Given the description of an element on the screen output the (x, y) to click on. 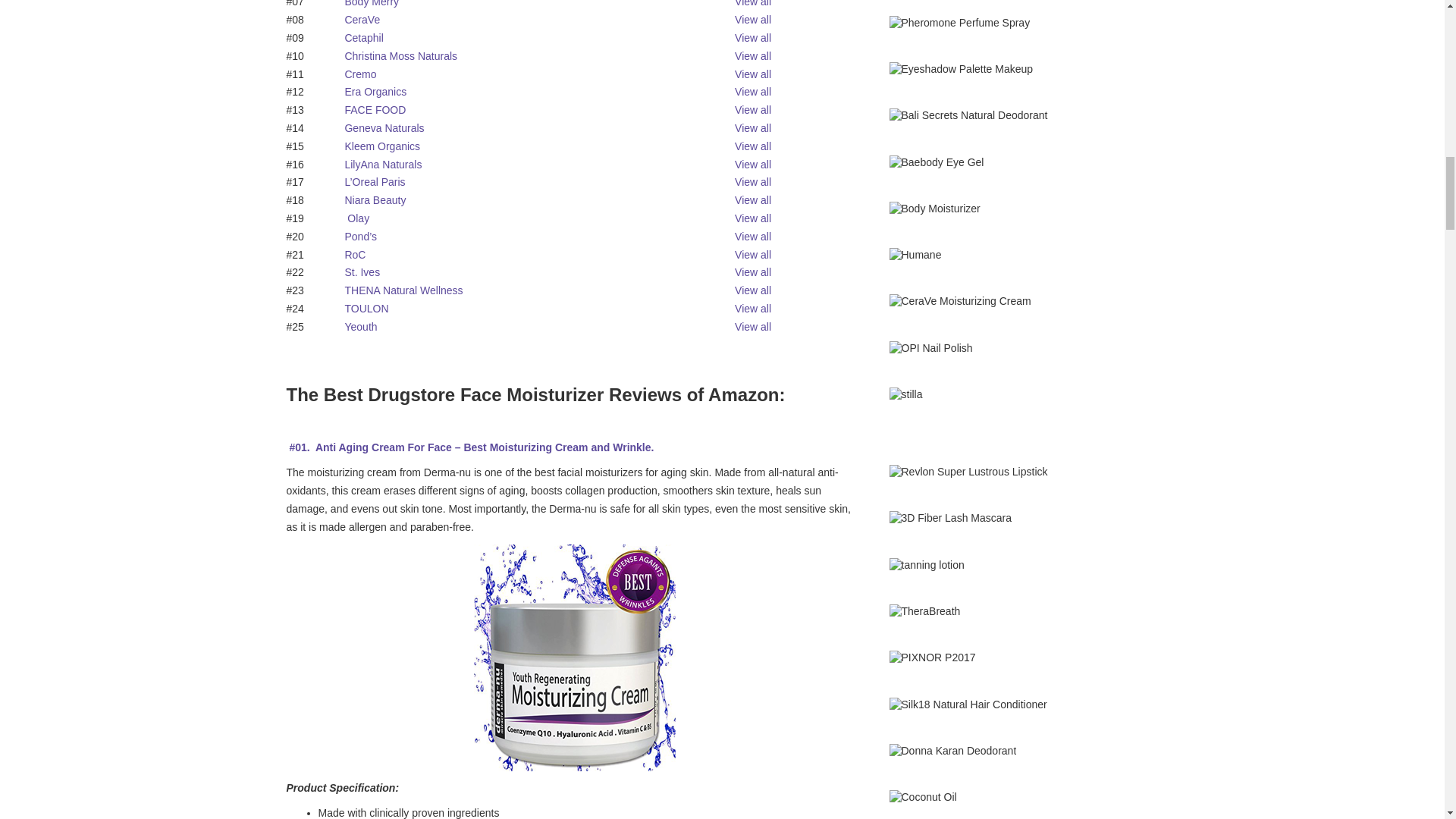
View all (753, 55)
CeraVe (361, 19)
Cetaphil (362, 37)
Cremo (359, 73)
Body Merry (370, 3)
View all (753, 3)
View all (753, 73)
View all (753, 37)
View all (753, 19)
Christina Moss Naturals (400, 55)
